Given the description of an element on the screen output the (x, y) to click on. 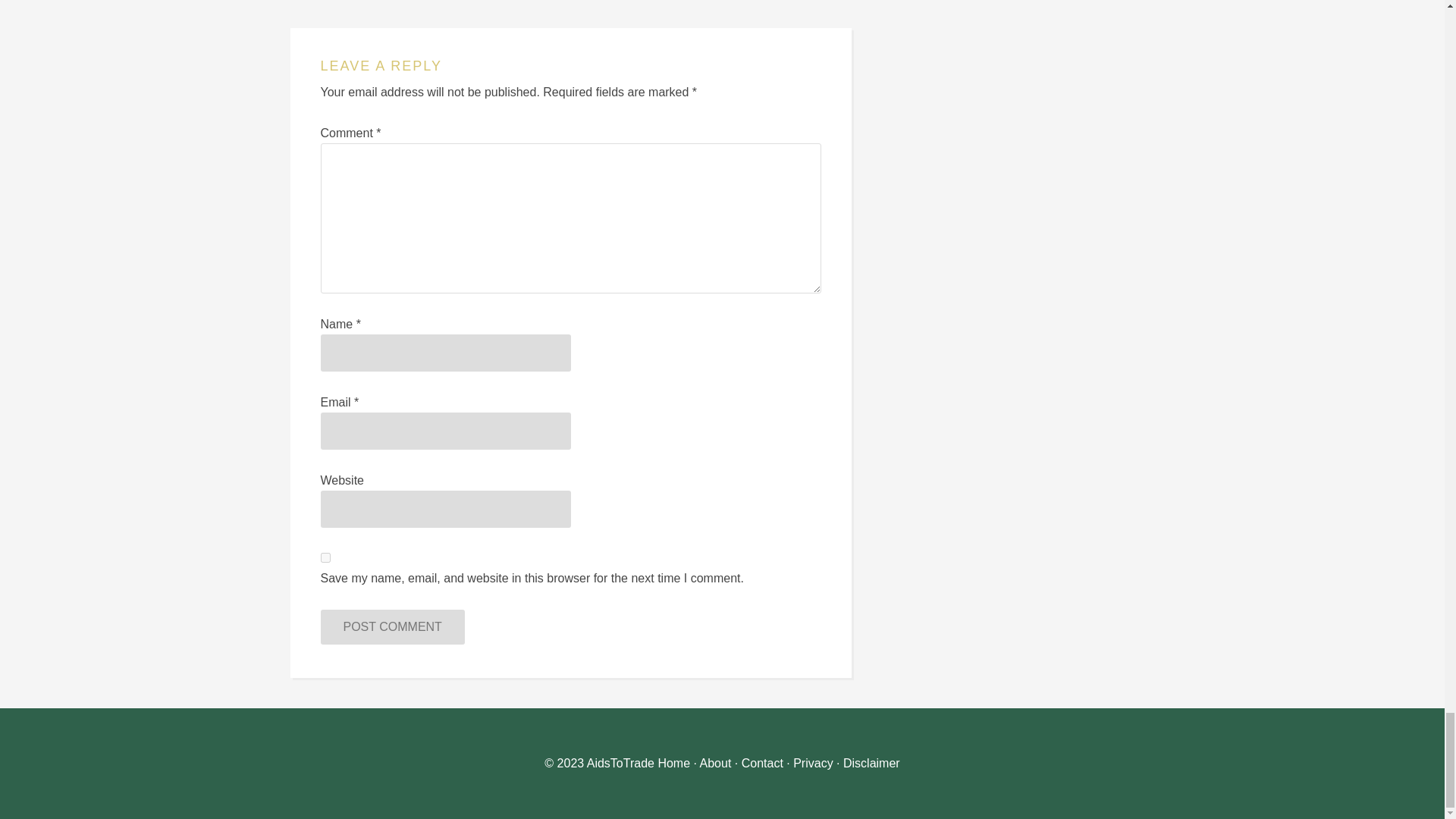
Home (674, 762)
Contact (762, 762)
About (716, 762)
yes (325, 557)
Privacy (812, 762)
Post Comment (392, 626)
Post Comment (392, 626)
